Given the description of an element on the screen output the (x, y) to click on. 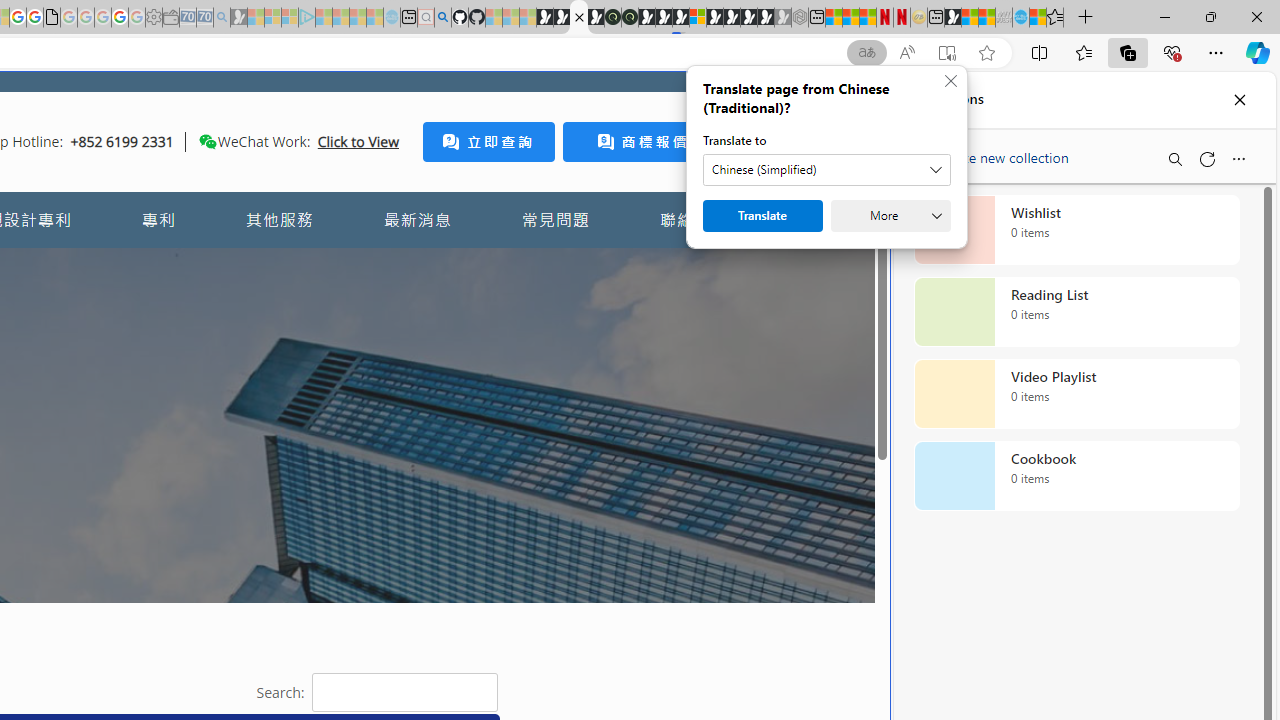
Microsoft Start - Sleeping (357, 17)
Cookbook collection, 0 items (1076, 475)
Translate to (826, 169)
Earth has six continents not seven, radical new study claims (986, 17)
